Given the description of an element on the screen output the (x, y) to click on. 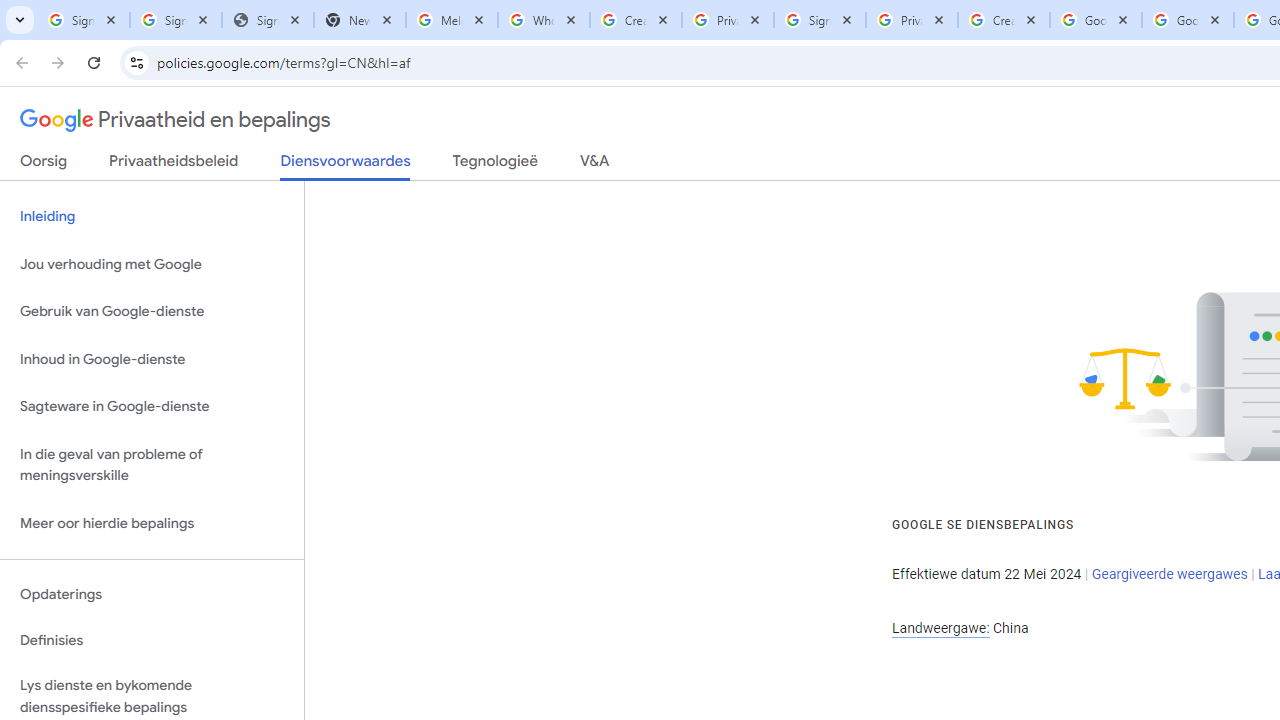
Oorsig (43, 165)
Sign in - Google Accounts (820, 20)
Sign In - USA TODAY (267, 20)
Privaatheidsbeleid (173, 165)
V&A (594, 165)
Jou verhouding met Google (152, 263)
Sign in - Google Accounts (83, 20)
Diensvoorwaardes (345, 166)
